Given the description of an element on the screen output the (x, y) to click on. 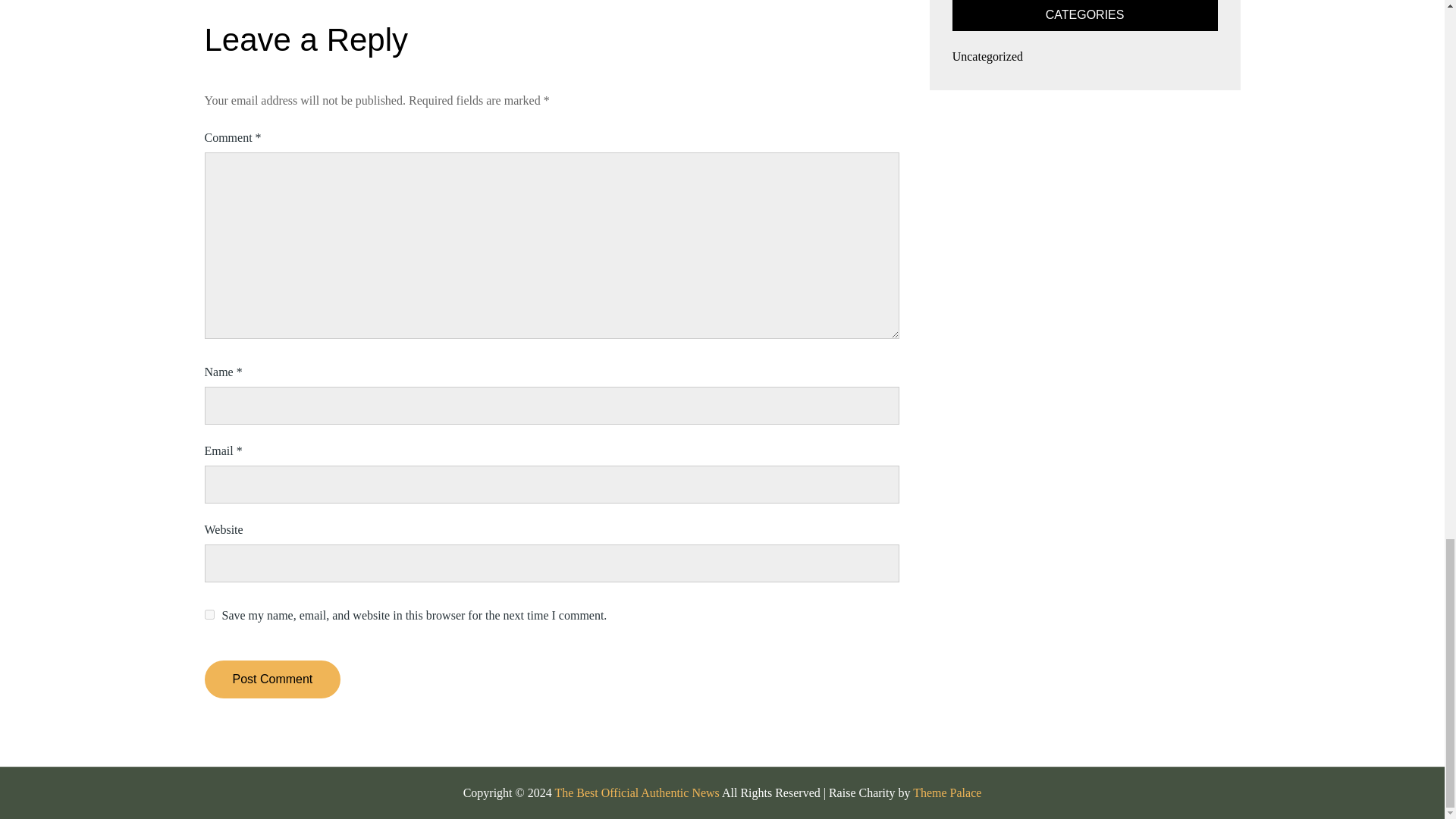
Post Comment (272, 679)
Post Comment (272, 679)
yes (209, 614)
